Given the description of an element on the screen output the (x, y) to click on. 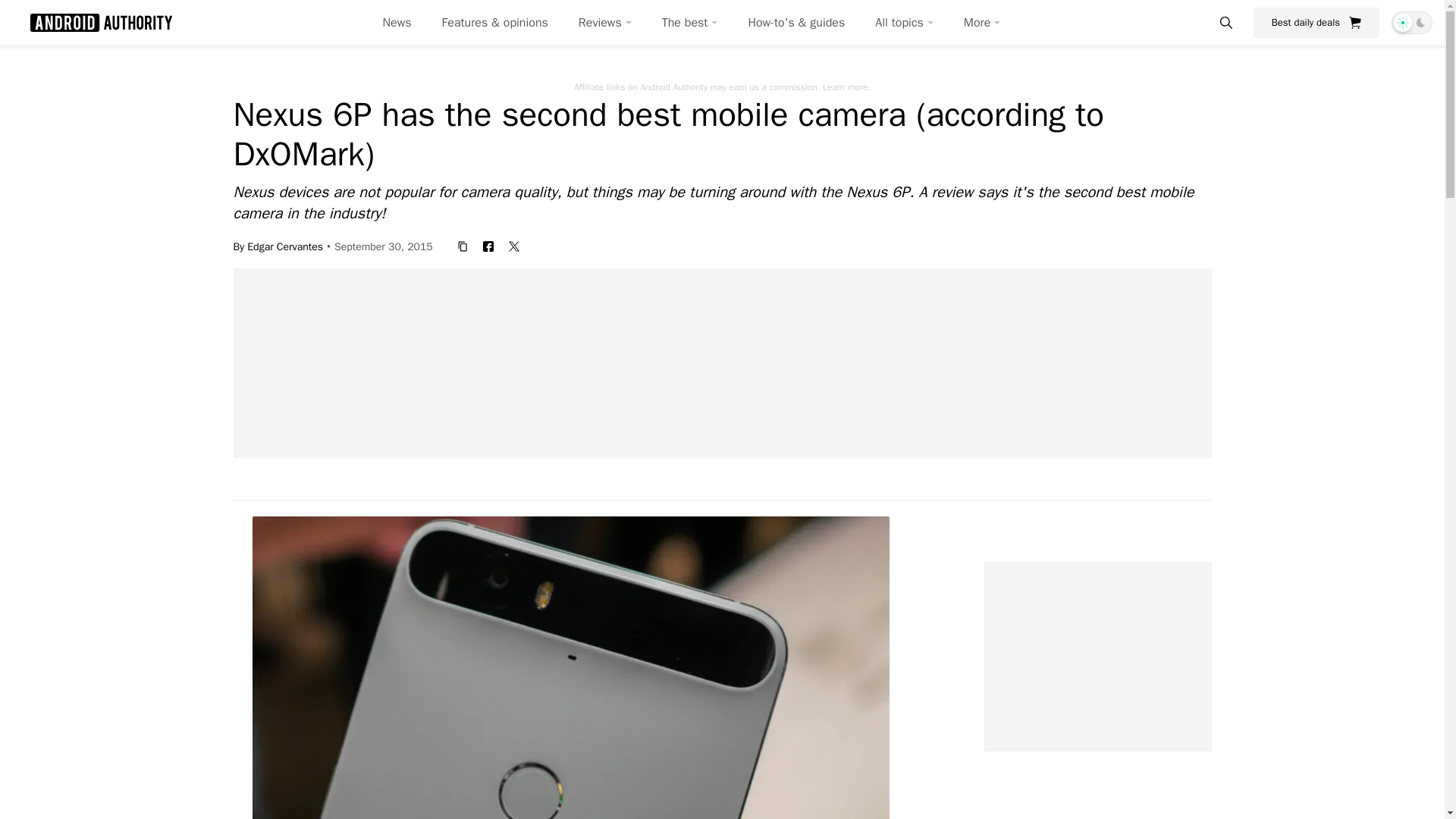
facebook (488, 246)
Learn more. (846, 86)
The best (689, 22)
3rd party ad content (722, 363)
Reviews (604, 22)
twitter (513, 246)
Best daily deals (1315, 22)
Edgar Cervantes (285, 245)
All topics (904, 22)
3rd party ad content (1097, 656)
3rd party ad content (731, 800)
